Given the description of an element on the screen output the (x, y) to click on. 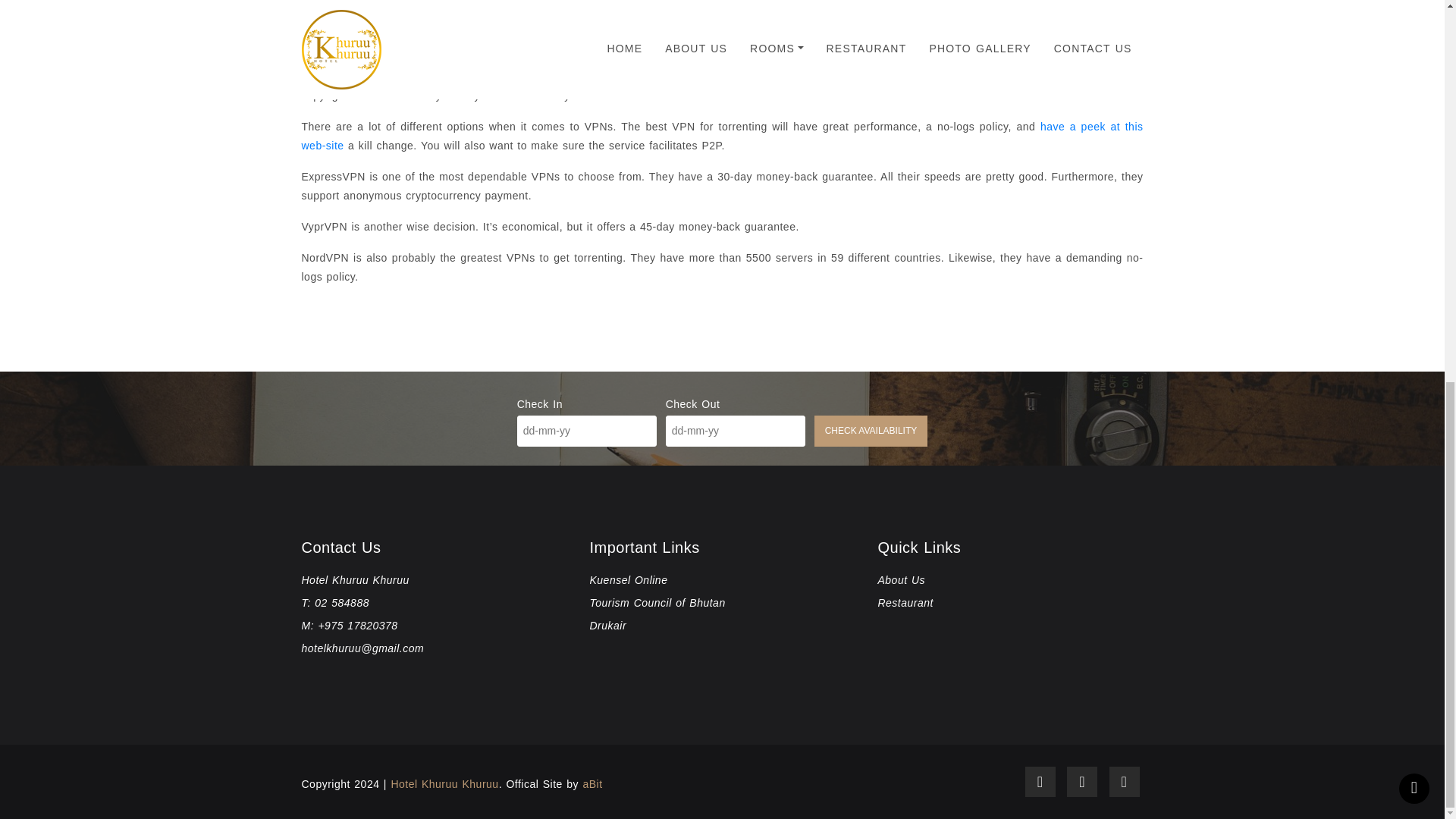
have a peek at this web-site (721, 135)
Kuensel Online (627, 580)
Hotel Khuruu Khuruu (443, 784)
Restaurant (905, 603)
Kuensel Online (627, 580)
Hotel Khuruu Khuruu (443, 784)
Kuensel Online (900, 580)
T: 02 584888 (335, 603)
aBit (592, 784)
aBit (592, 784)
